Given the description of an element on the screen output the (x, y) to click on. 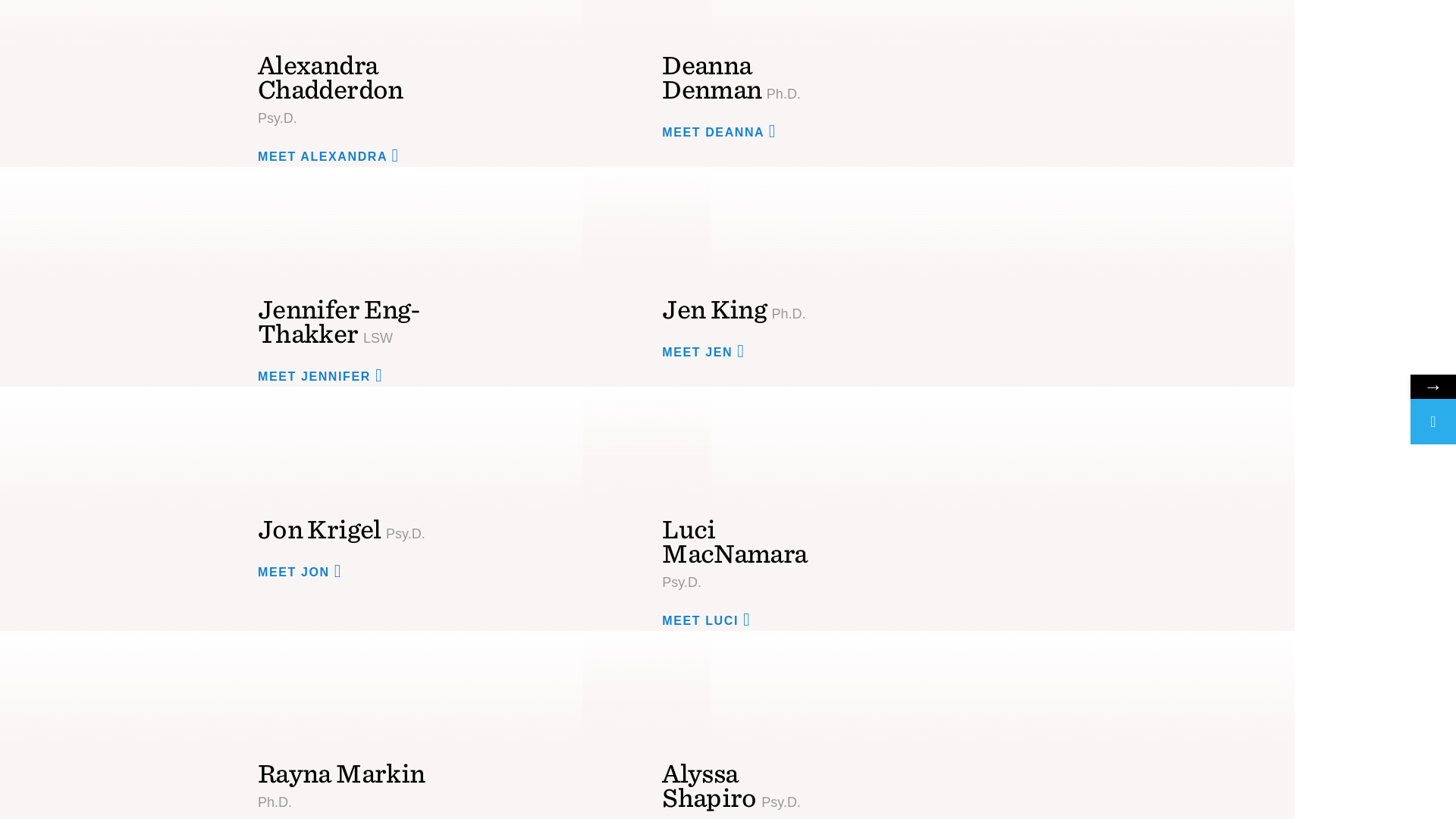
MEET LUCI (711, 619)
MEET DEANNA (724, 131)
MEET JENNIFER (325, 375)
MEET ALEXANDRA (333, 155)
MEET JEN (708, 351)
MEET JON (304, 571)
